Given the description of an element on the screen output the (x, y) to click on. 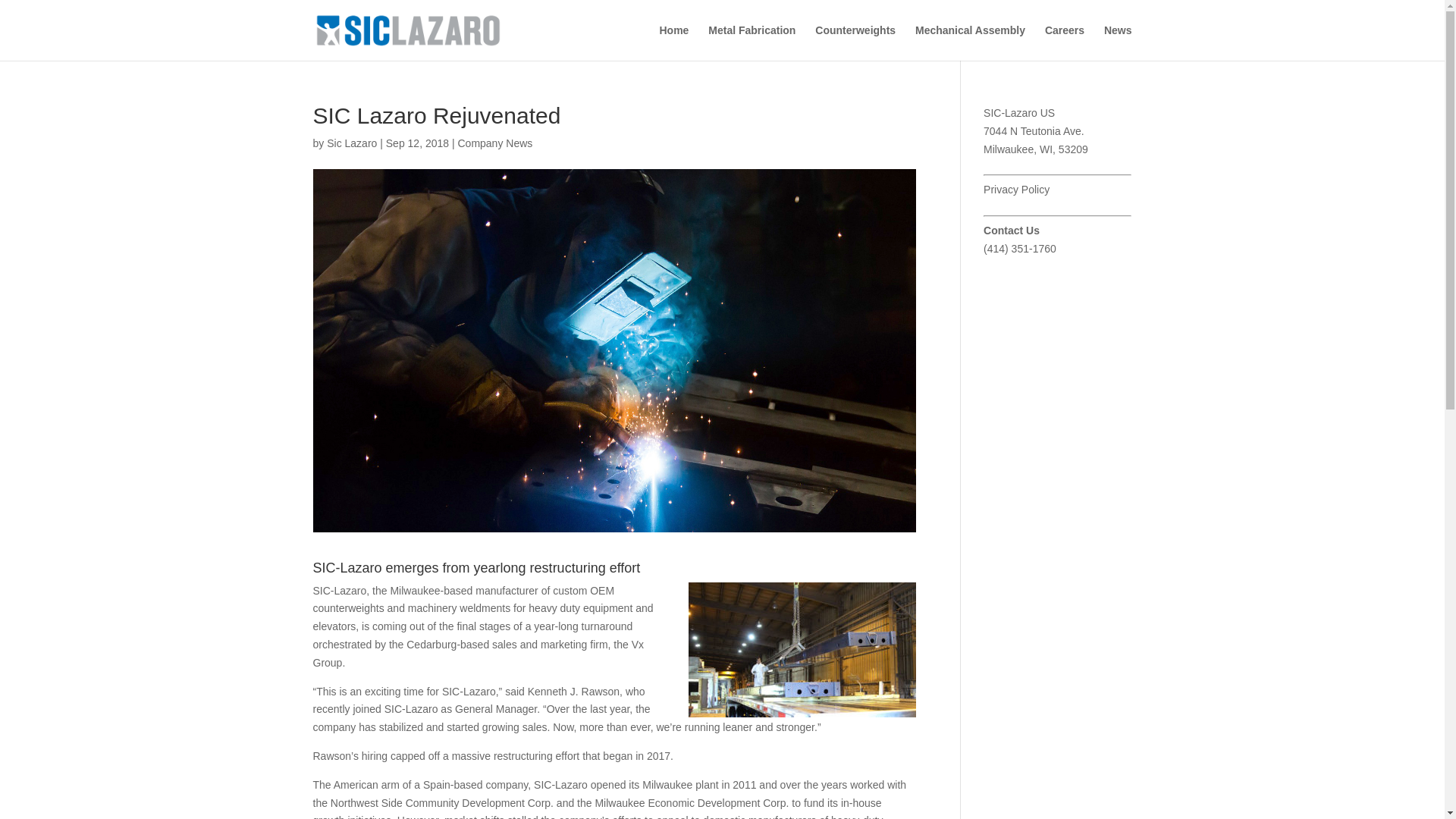
Careers (1064, 42)
Company News (494, 143)
Sic Lazaro (351, 143)
Privacy Policy (1016, 189)
Posts by Sic Lazaro (351, 143)
Mechanical Assembly (970, 42)
Metal Fabrication (750, 42)
Counterweights (855, 42)
